Given the description of an element on the screen output the (x, y) to click on. 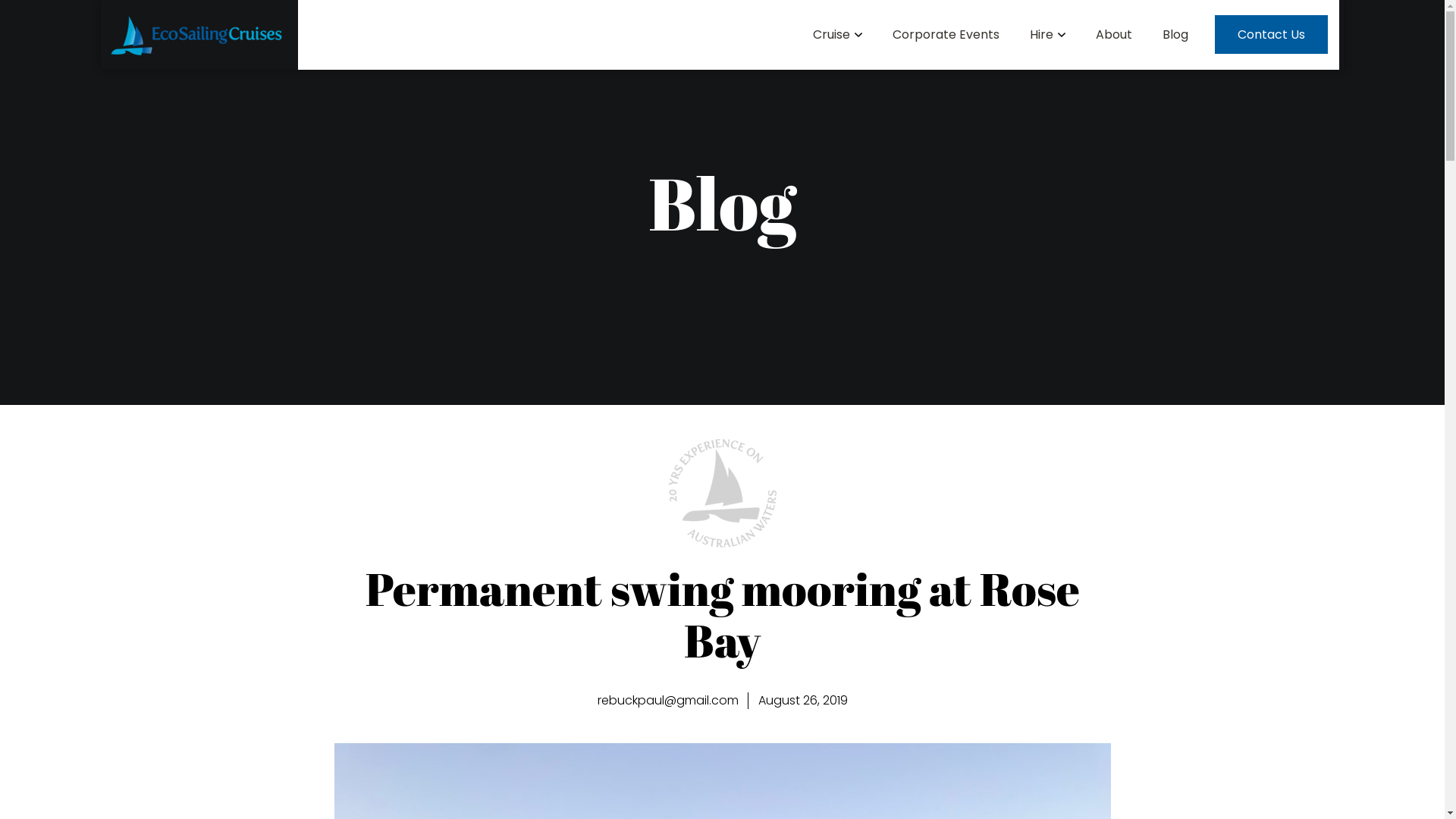
Blog Element type: text (1175, 34)
rebuckpaul@gmail.com Element type: text (667, 700)
Corporate Events Element type: text (945, 34)
About Element type: text (1113, 34)
Hire Element type: text (1047, 34)
Contact Us Element type: text (1270, 34)
Cruise Element type: text (837, 34)
August 26, 2019 Element type: text (802, 700)
